Given the description of an element on the screen output the (x, y) to click on. 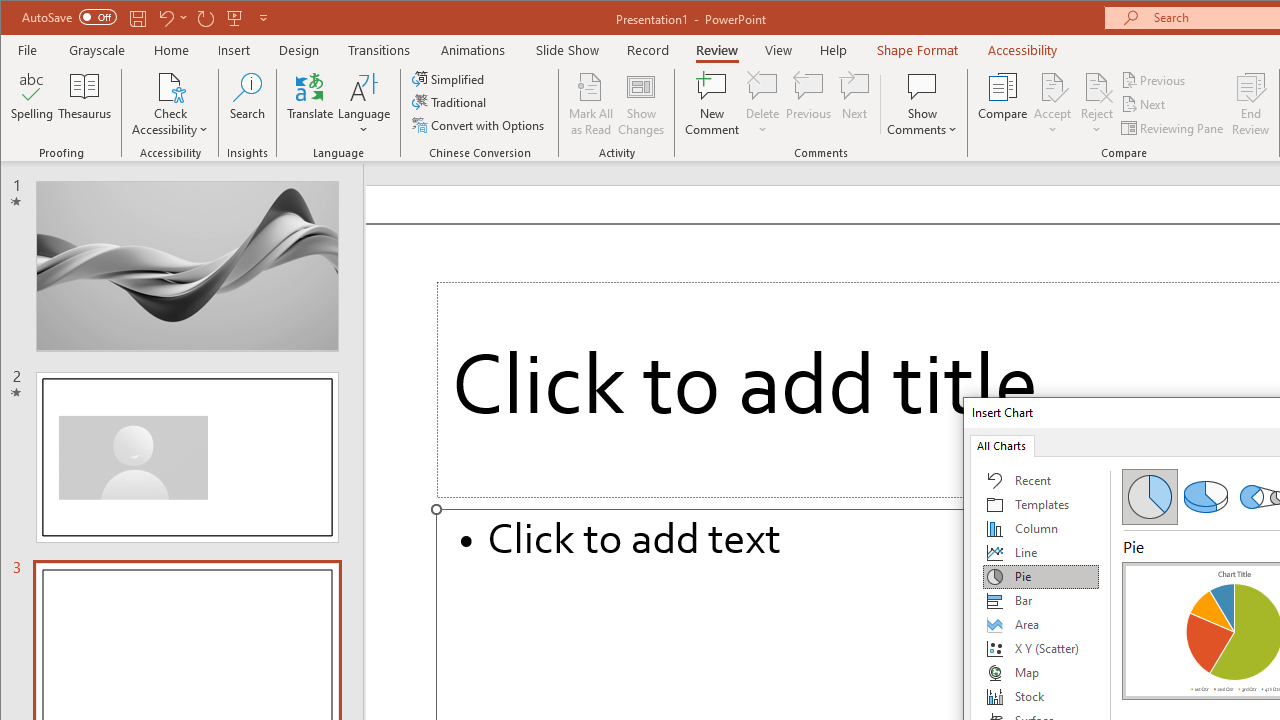
Reviewing Pane (1173, 127)
Translate (310, 104)
All Charts (1001, 444)
Reject (1096, 104)
Map (1041, 672)
Column (1041, 528)
